Given the description of an element on the screen output the (x, y) to click on. 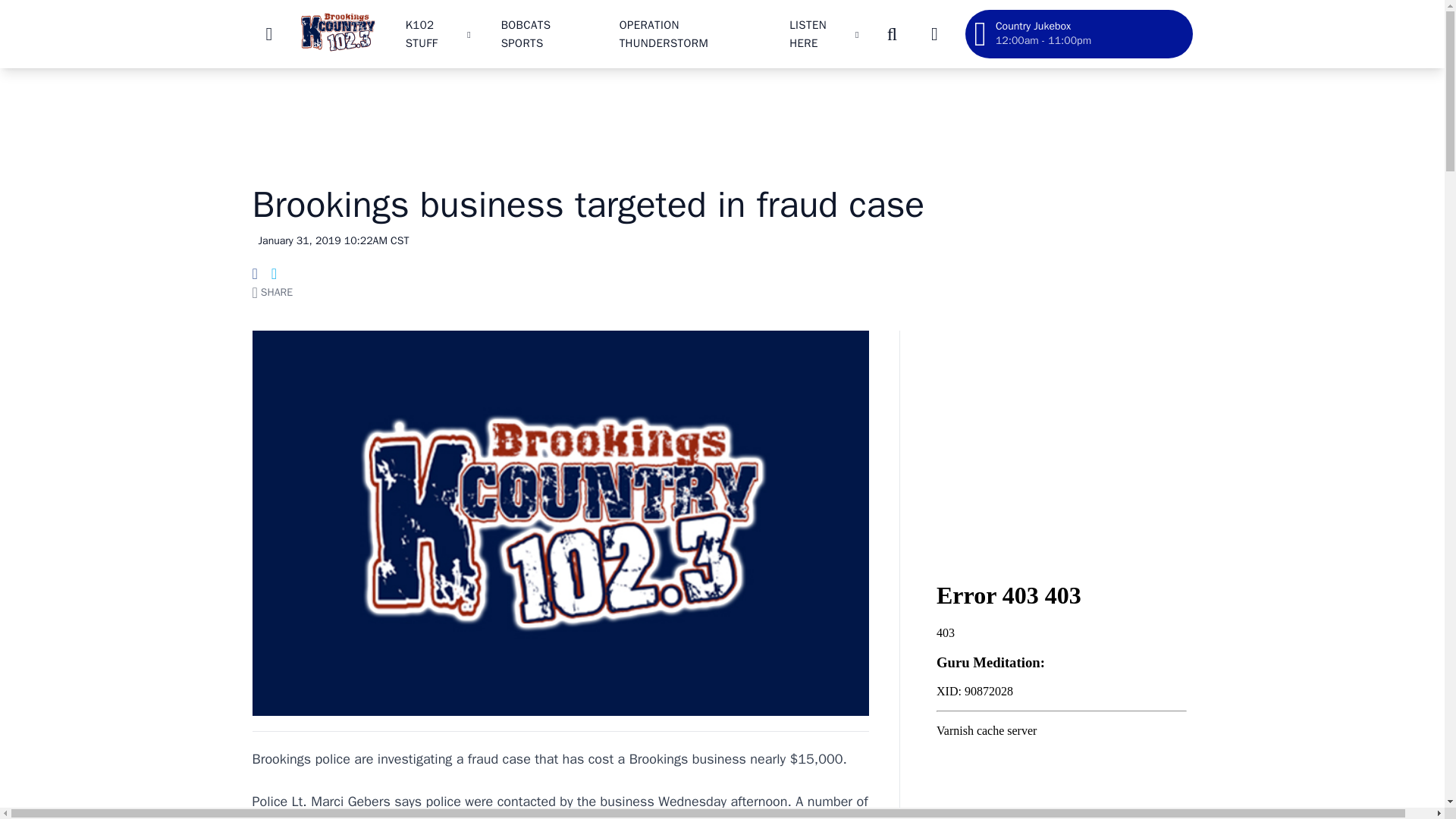
3rd party ad content (1060, 440)
3rd party ad content (721, 117)
Brookings K102 (337, 33)
